Given the description of an element on the screen output the (x, y) to click on. 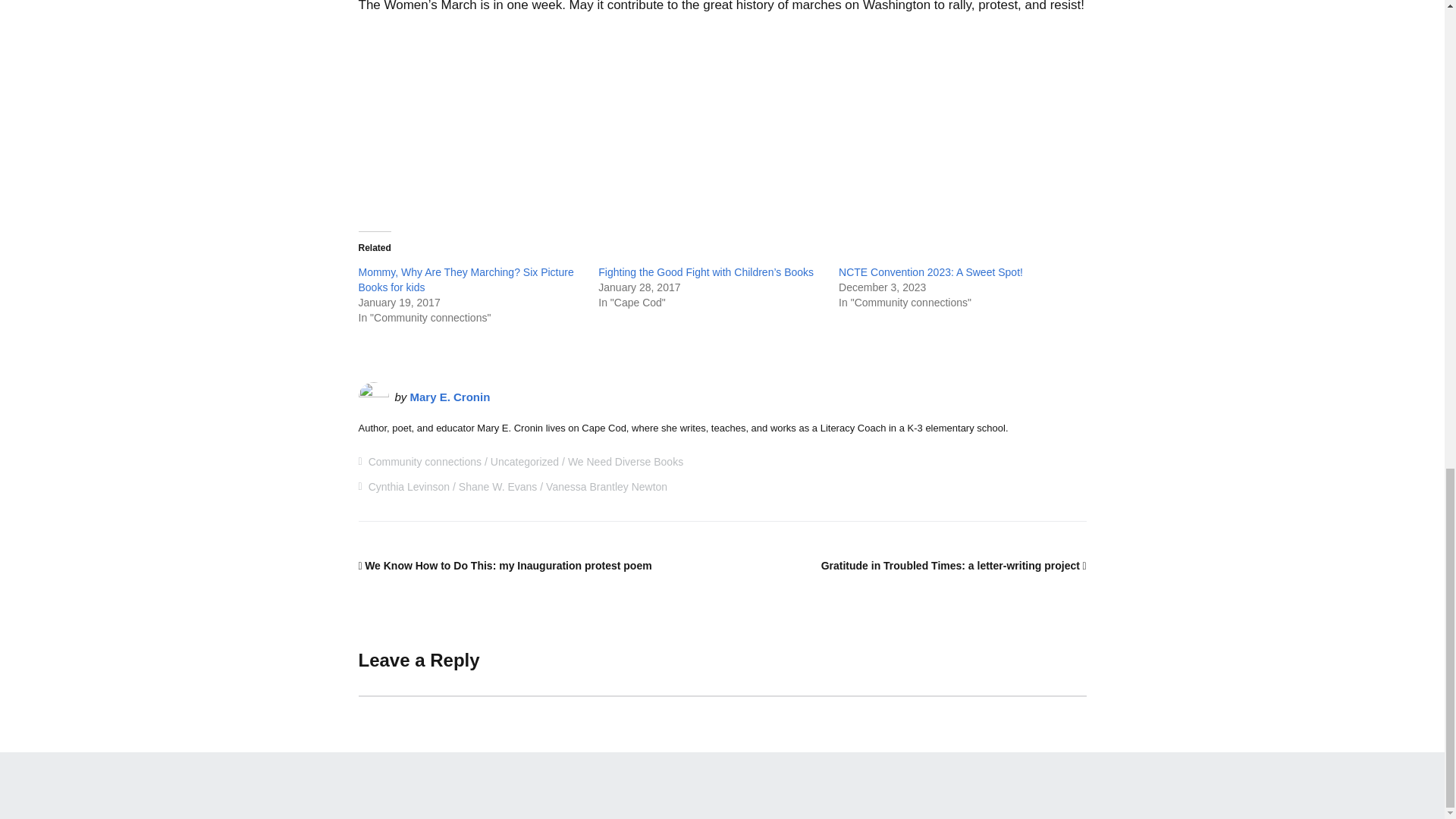
NCTE Convention 2023: A Sweet Spot! (930, 272)
We Need Diverse Books (624, 461)
Mary E. Cronin (450, 396)
Uncategorized (524, 461)
Gratitude in Troubled Times: a letter-writing project (953, 565)
Mommy, Why Are They Marching? Six Picture Books for kids (465, 279)
Mommy, Why Are They Marching?  Six Picture Books for kids (465, 279)
Community connections (424, 461)
Vanessa Brantley Newton (606, 486)
NCTE Convention 2023:  A Sweet Spot! (930, 272)
Cynthia Levinson (408, 486)
We Know How to Do This: my Inauguration protest poem (504, 565)
Shane W. Evans (497, 486)
